Given the description of an element on the screen output the (x, y) to click on. 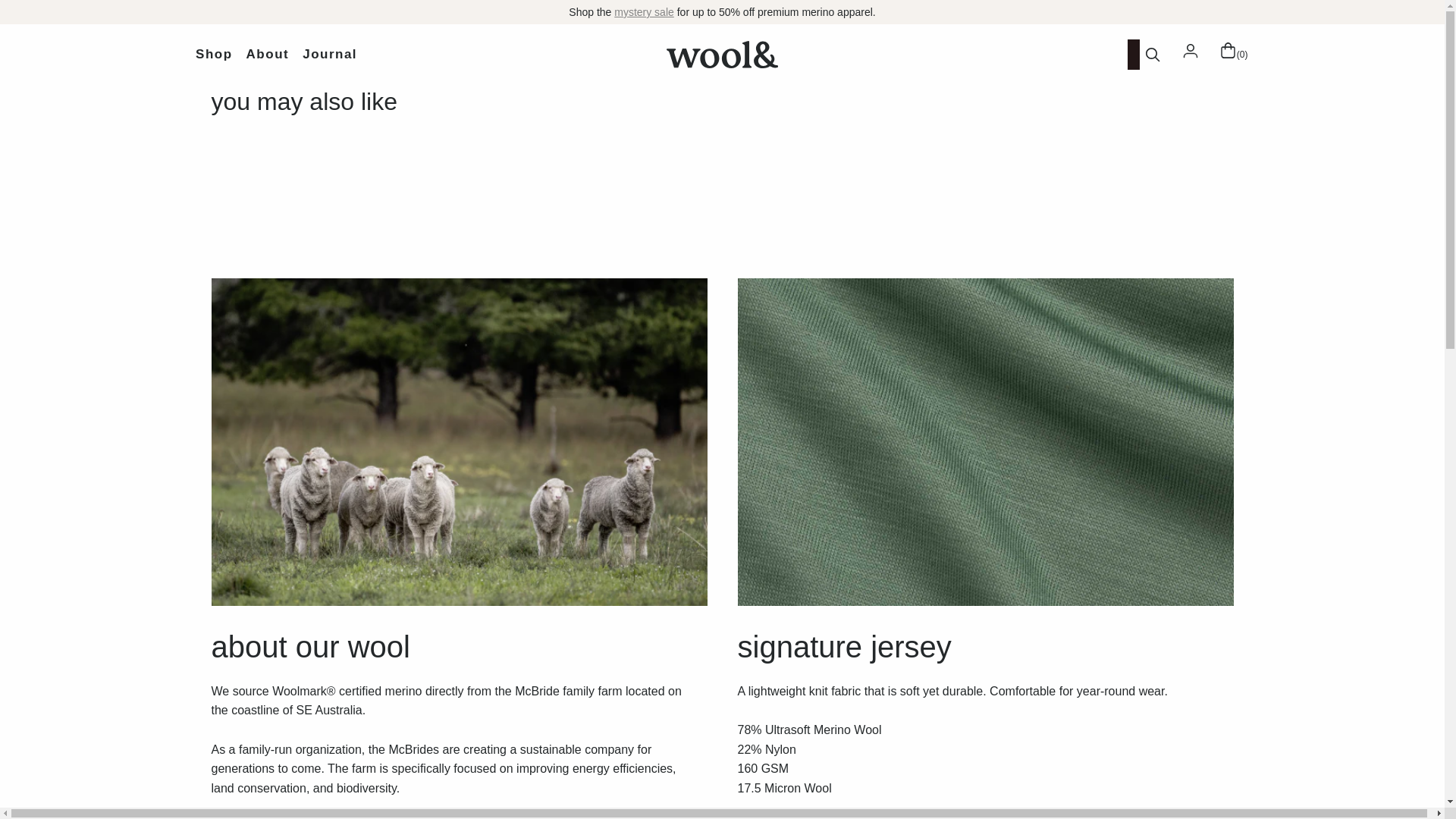
mystery sale (644, 11)
